Given the description of an element on the screen output the (x, y) to click on. 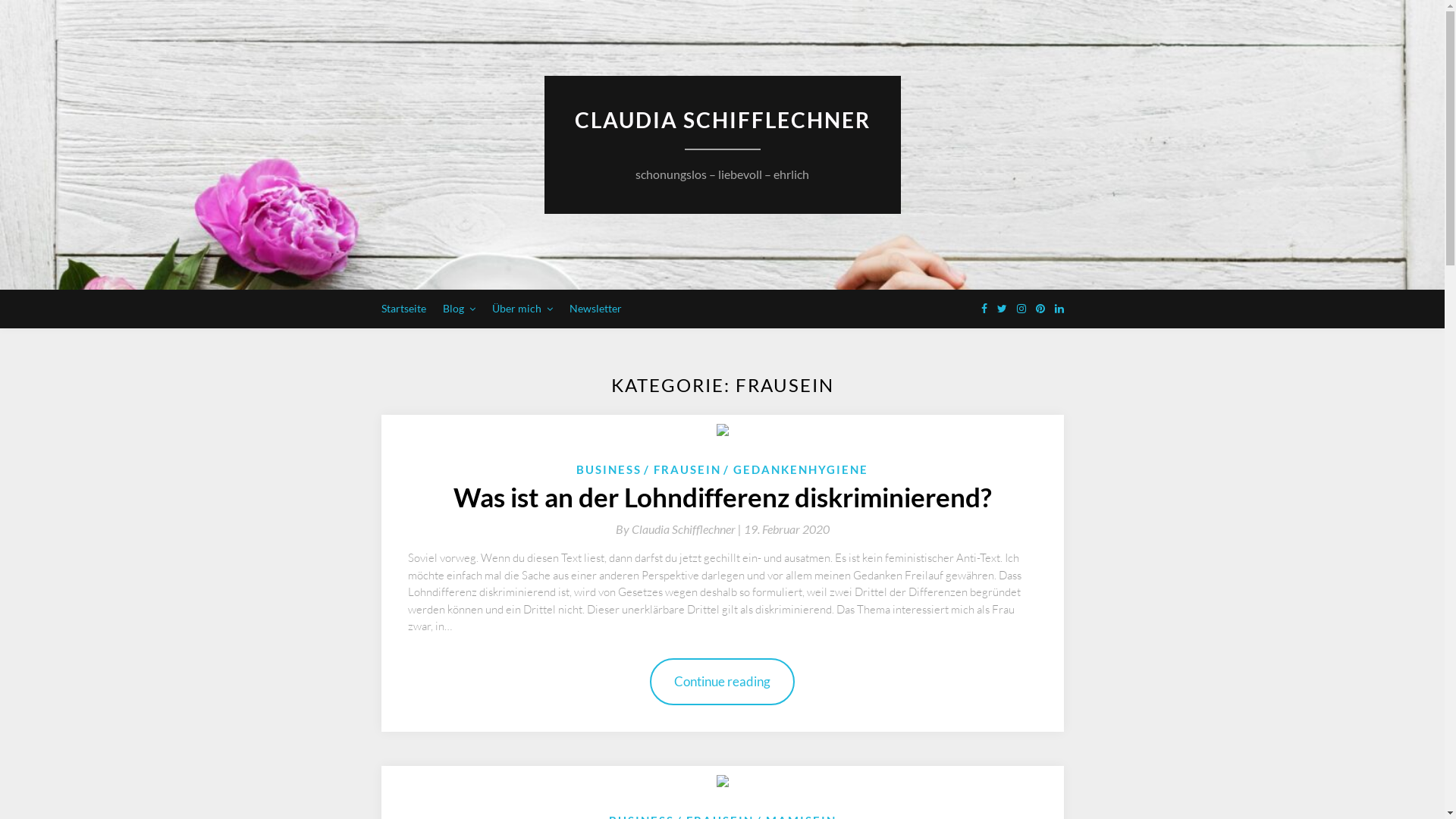
GEDANKENHYGIENE Element type: text (795, 469)
BUSINESS Element type: text (608, 469)
By Claudia Schifflechner | Element type: text (679, 528)
FRAUSEIN Element type: text (682, 469)
Continue reading Element type: text (721, 682)
Suche Element type: text (28, 12)
Blog Element type: text (458, 308)
Was ist an der Lohndifferenz diskriminierend? Element type: text (722, 496)
Startseite Element type: text (402, 308)
19. Februar 2020 Element type: text (785, 528)
Newsletter Element type: text (594, 308)
